Given the description of an element on the screen output the (x, y) to click on. 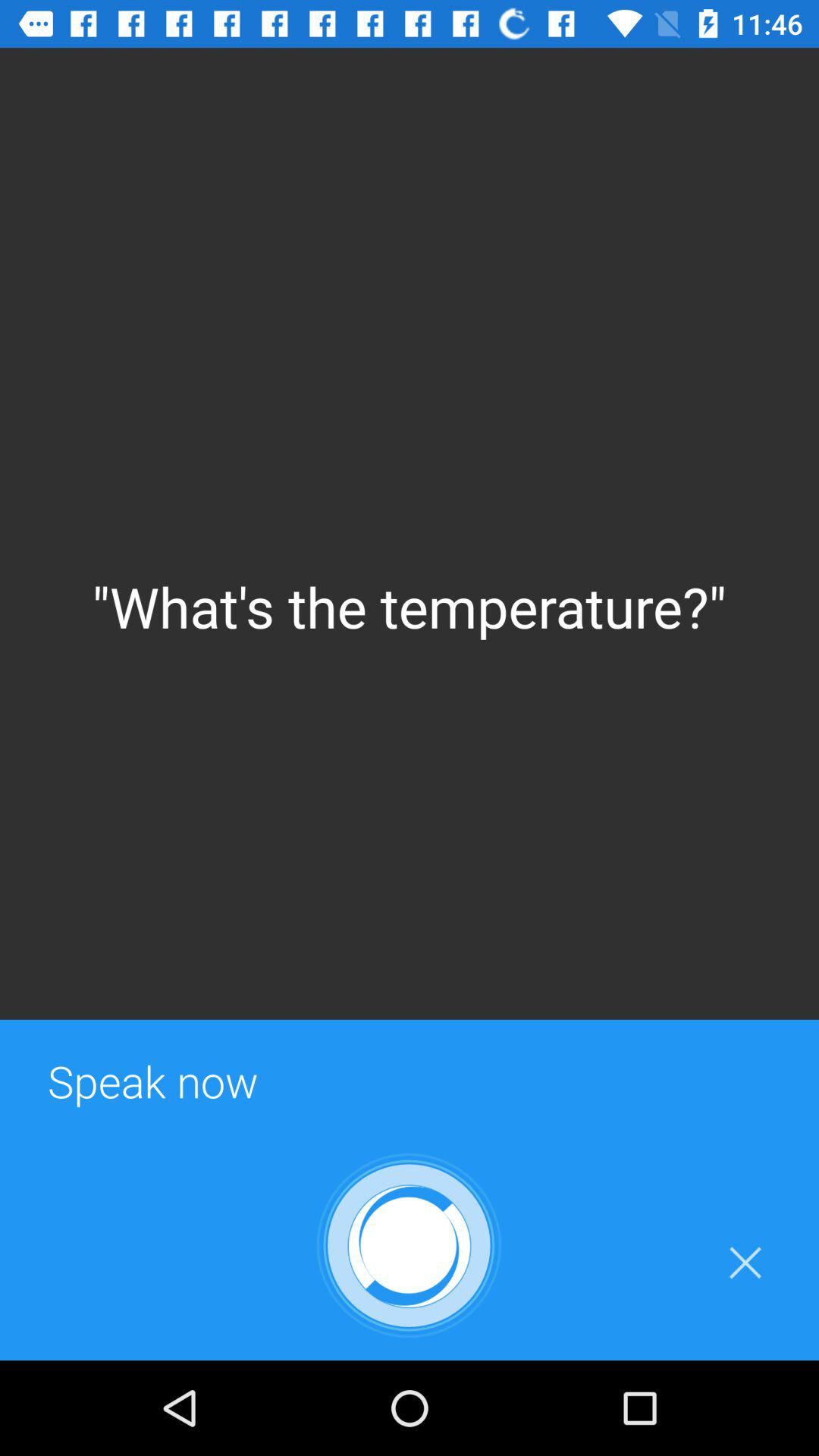
choose the item below speak now (745, 1262)
